Given the description of an element on the screen output the (x, y) to click on. 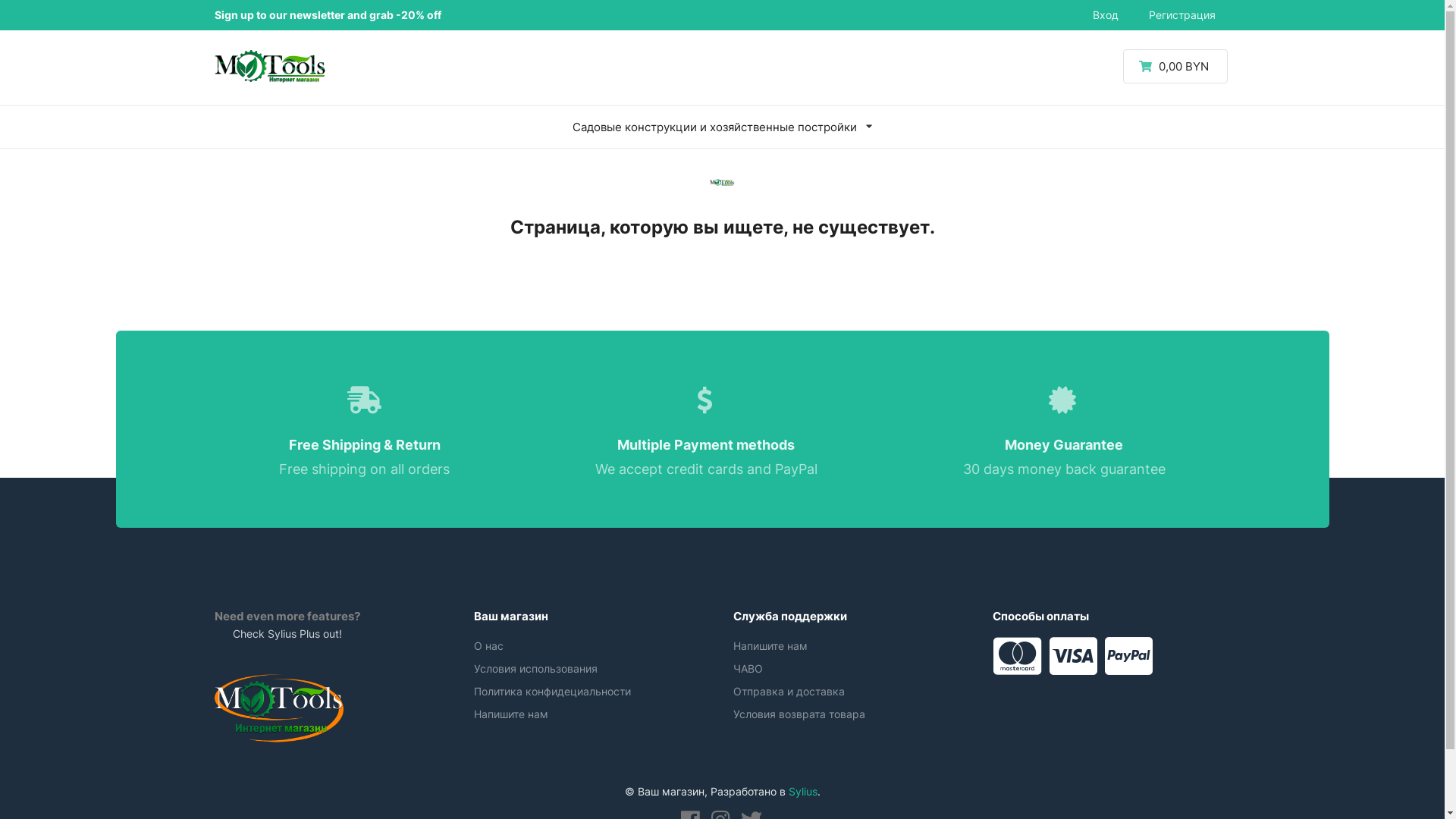
Sign up to our newsletter and grab -20% off Element type: text (326, 14)
Sylius Element type: text (802, 790)
Need even more features?
Check Sylius Plus out! Element type: text (286, 680)
